Given the description of an element on the screen output the (x, y) to click on. 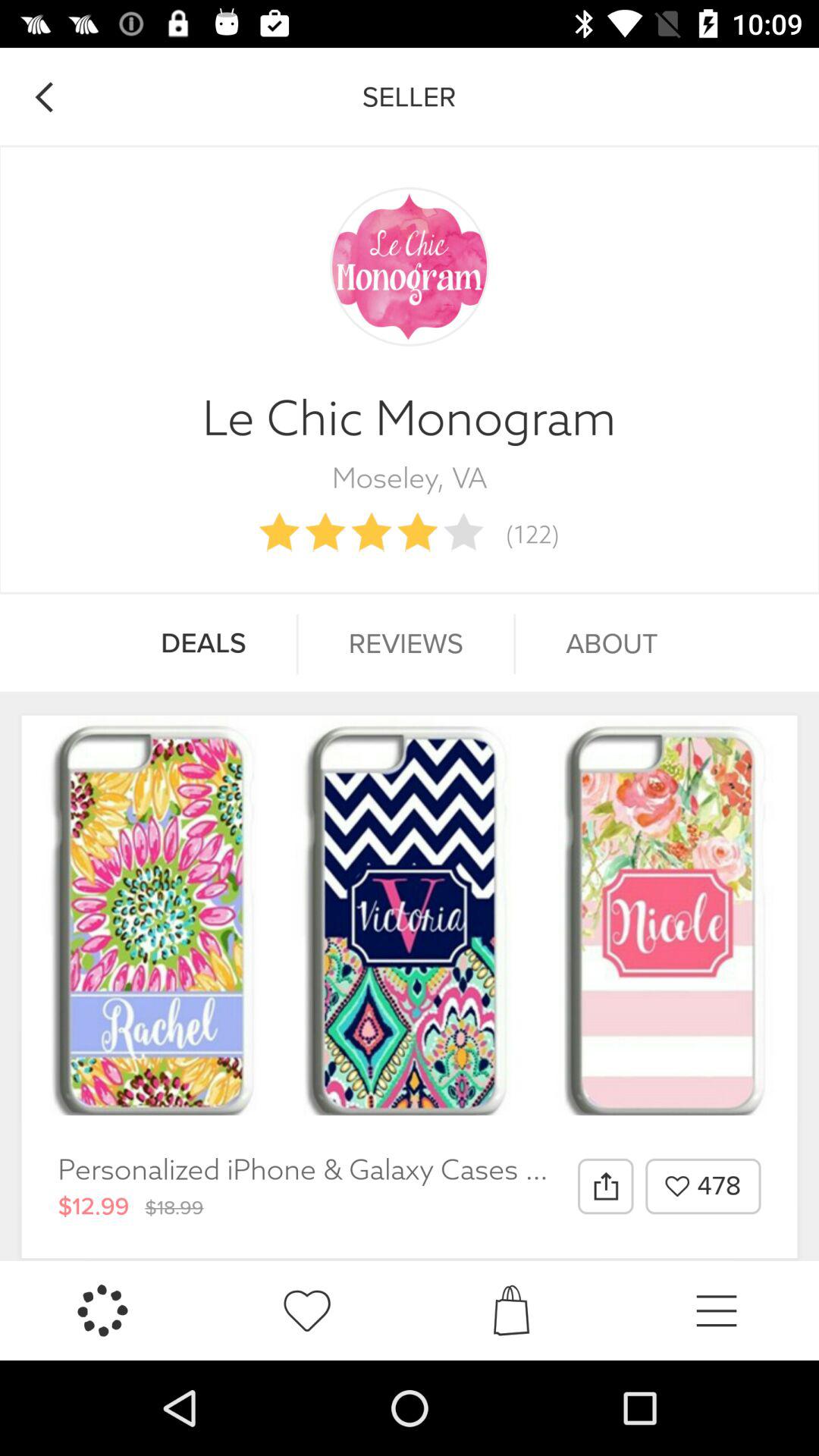
press deals on the left (203, 643)
